Given the description of an element on the screen output the (x, y) to click on. 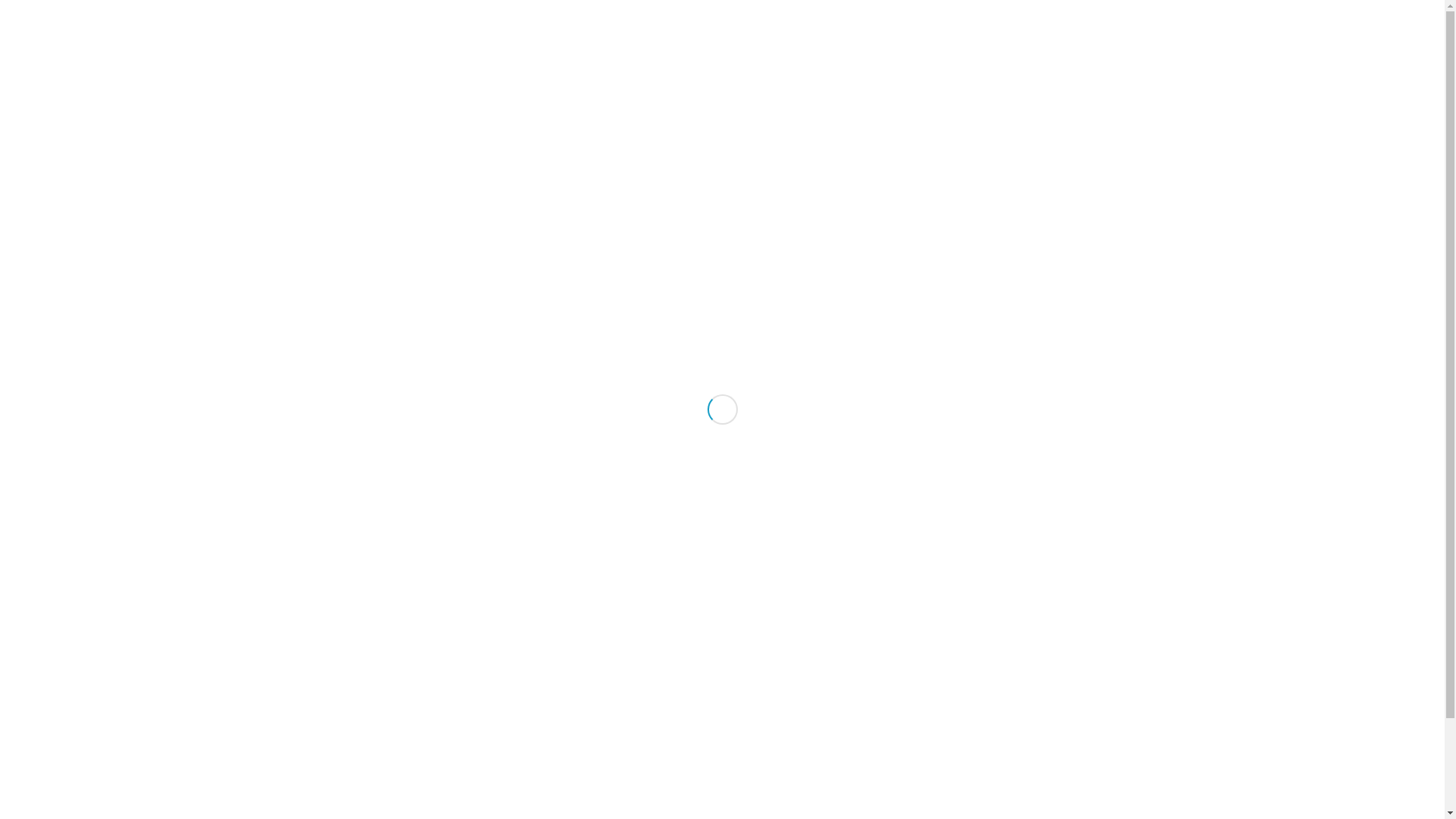
Major Project Partnerships Element type: text (337, 111)
Facebook Element type: hover (1169, 11)
Events Calendar Element type: text (1008, 309)
Home Element type: text (1049, 112)
